Given the description of an element on the screen output the (x, y) to click on. 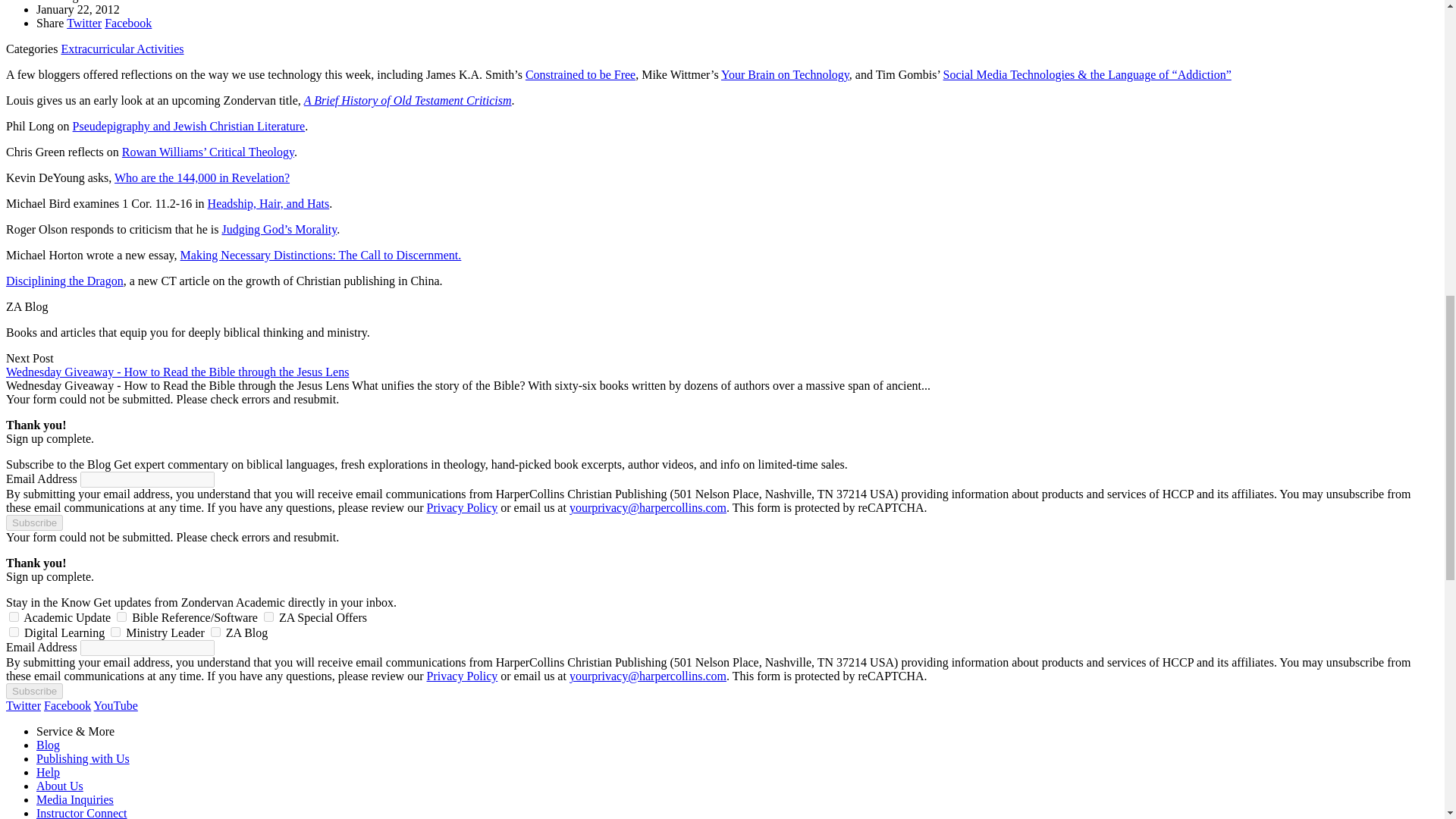
Subscribe (809, 634)
Subscribe (807, 391)
